Given the description of an element on the screen output the (x, y) to click on. 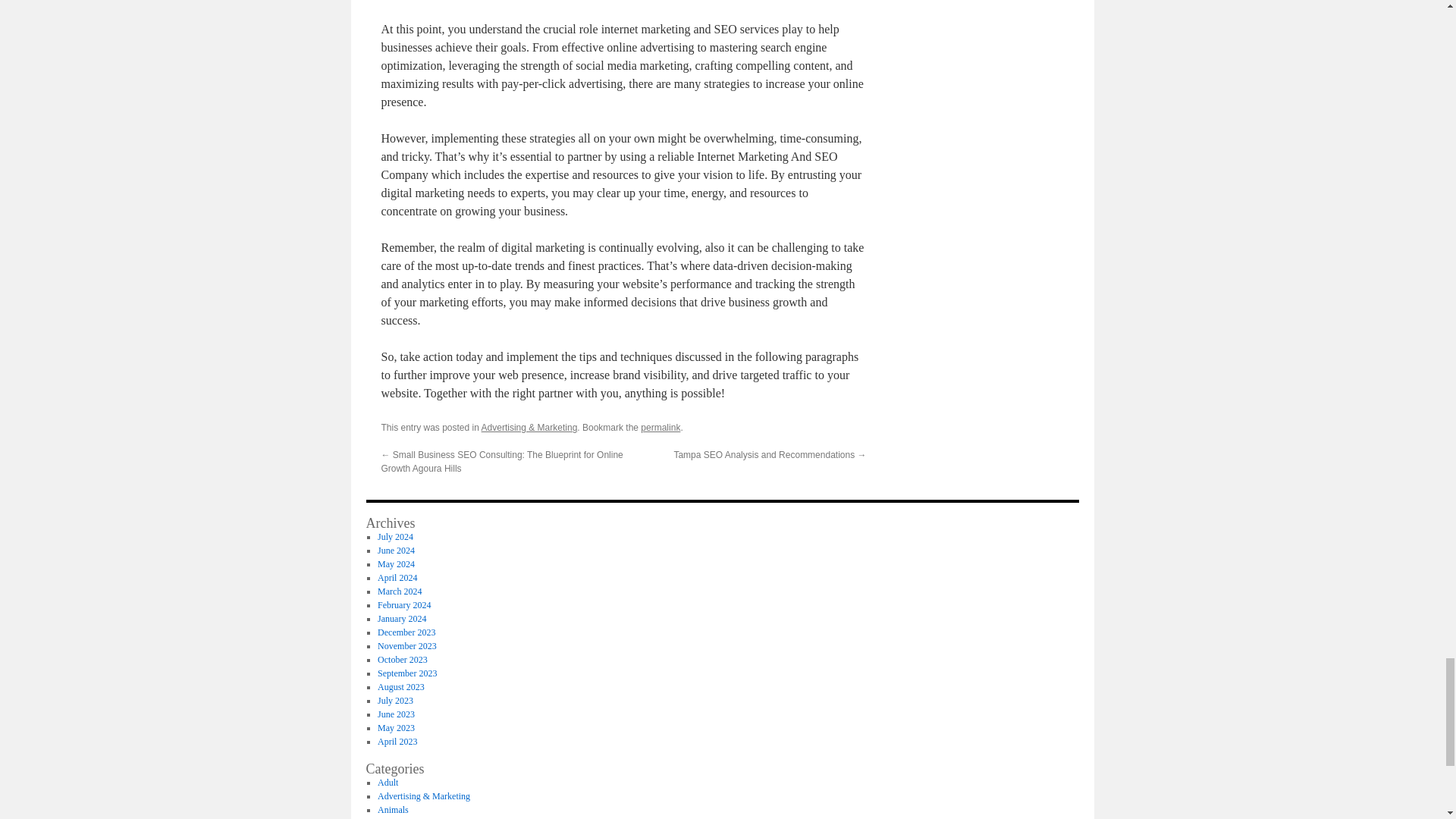
June 2024 (395, 550)
permalink (659, 427)
Adult (387, 782)
June 2023 (395, 714)
July 2024 (395, 536)
February 2024 (403, 604)
August 2023 (401, 686)
July 2023 (395, 700)
September 2023 (406, 673)
May 2024 (395, 563)
December 2023 (406, 632)
April 2024 (396, 577)
January 2024 (401, 618)
March 2024 (399, 591)
